Given the description of an element on the screen output the (x, y) to click on. 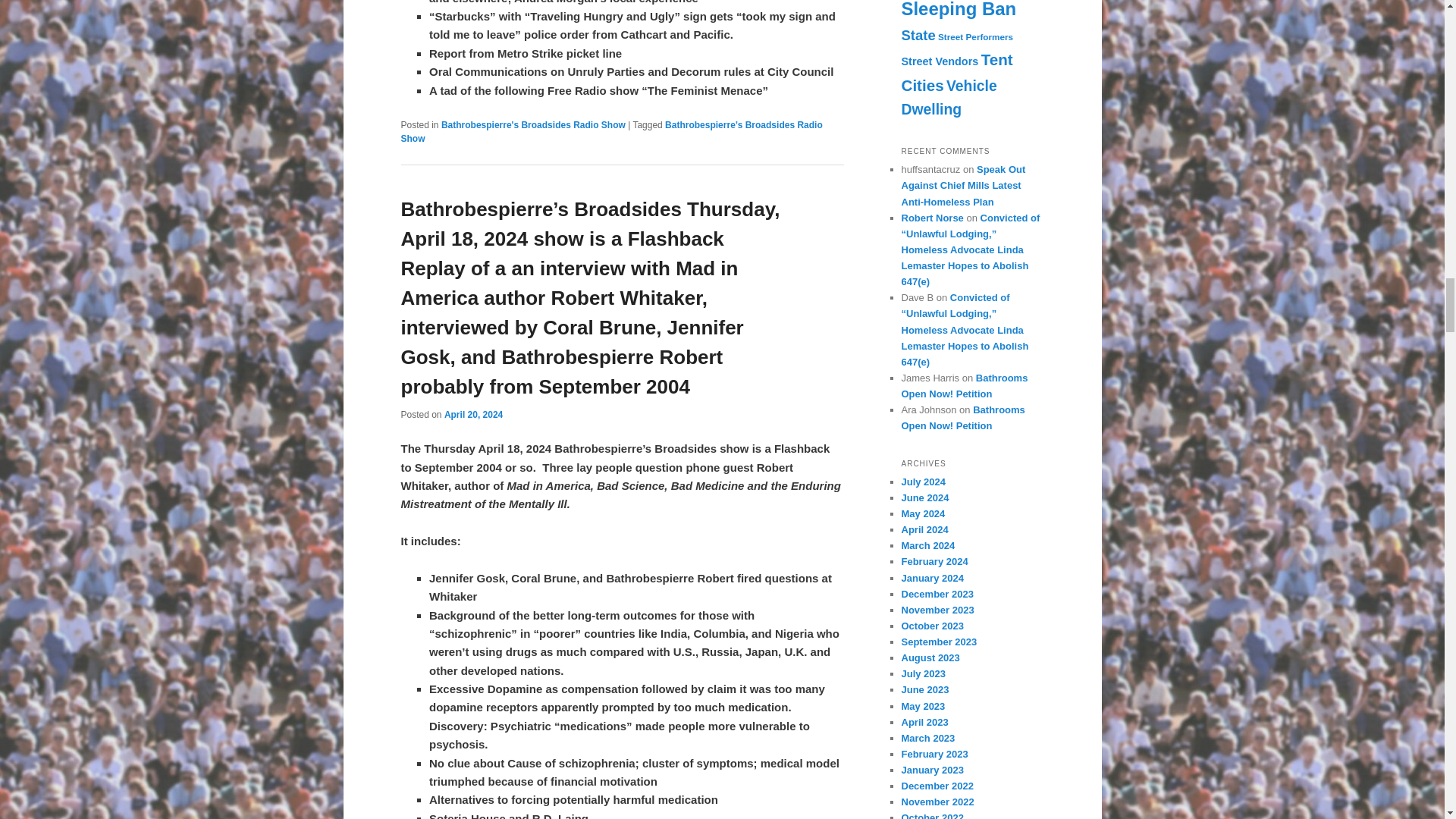
10:42 pm (473, 414)
Bathrobespierre's Broadsides Radio Show (533, 124)
April 20, 2024 (473, 414)
